Given the description of an element on the screen output the (x, y) to click on. 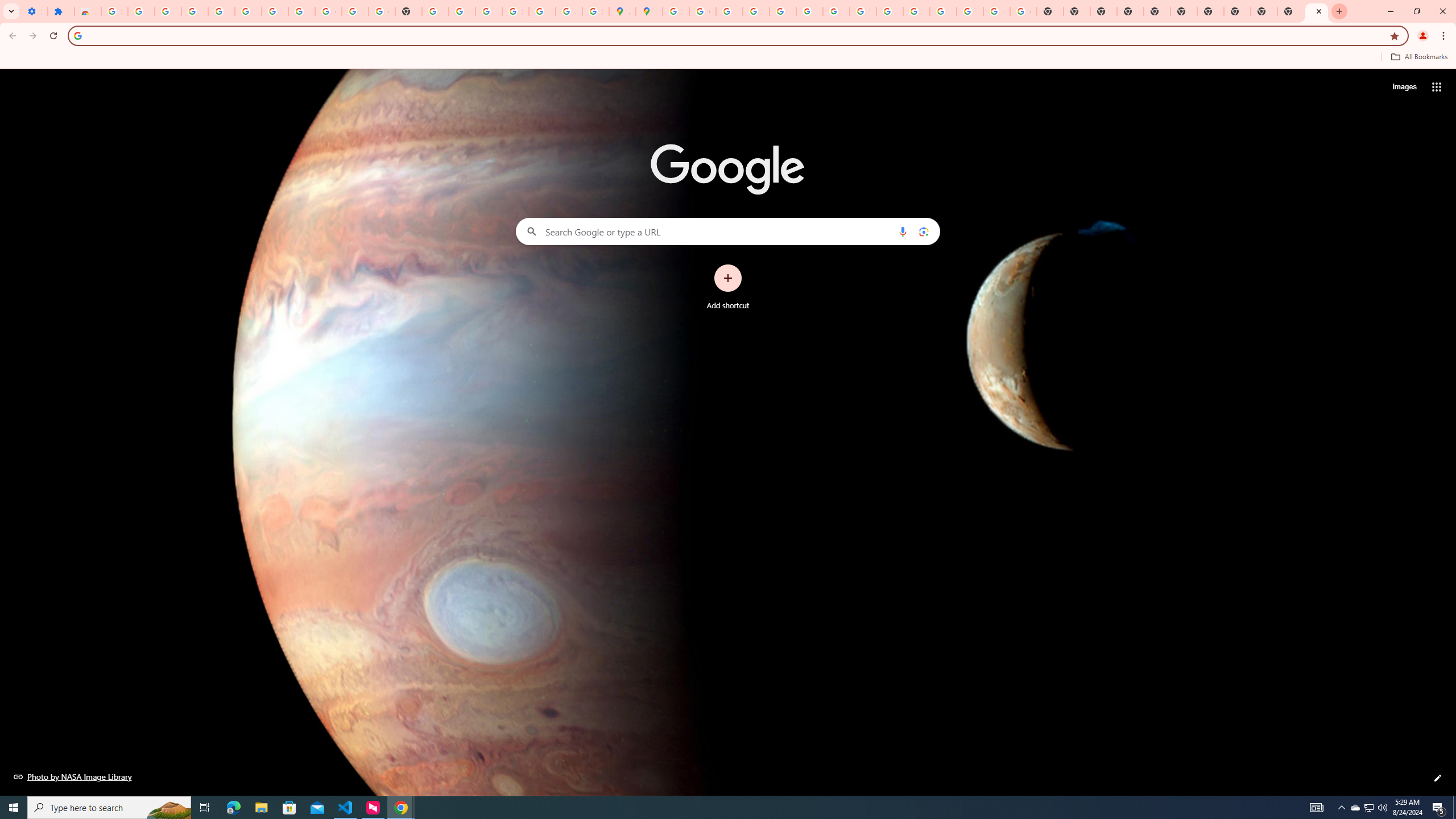
YouTube (862, 11)
Search by image (922, 230)
Photo by NASA Image Library (72, 776)
Extensions (61, 11)
Settings - On startup (34, 11)
